Given the description of an element on the screen output the (x, y) to click on. 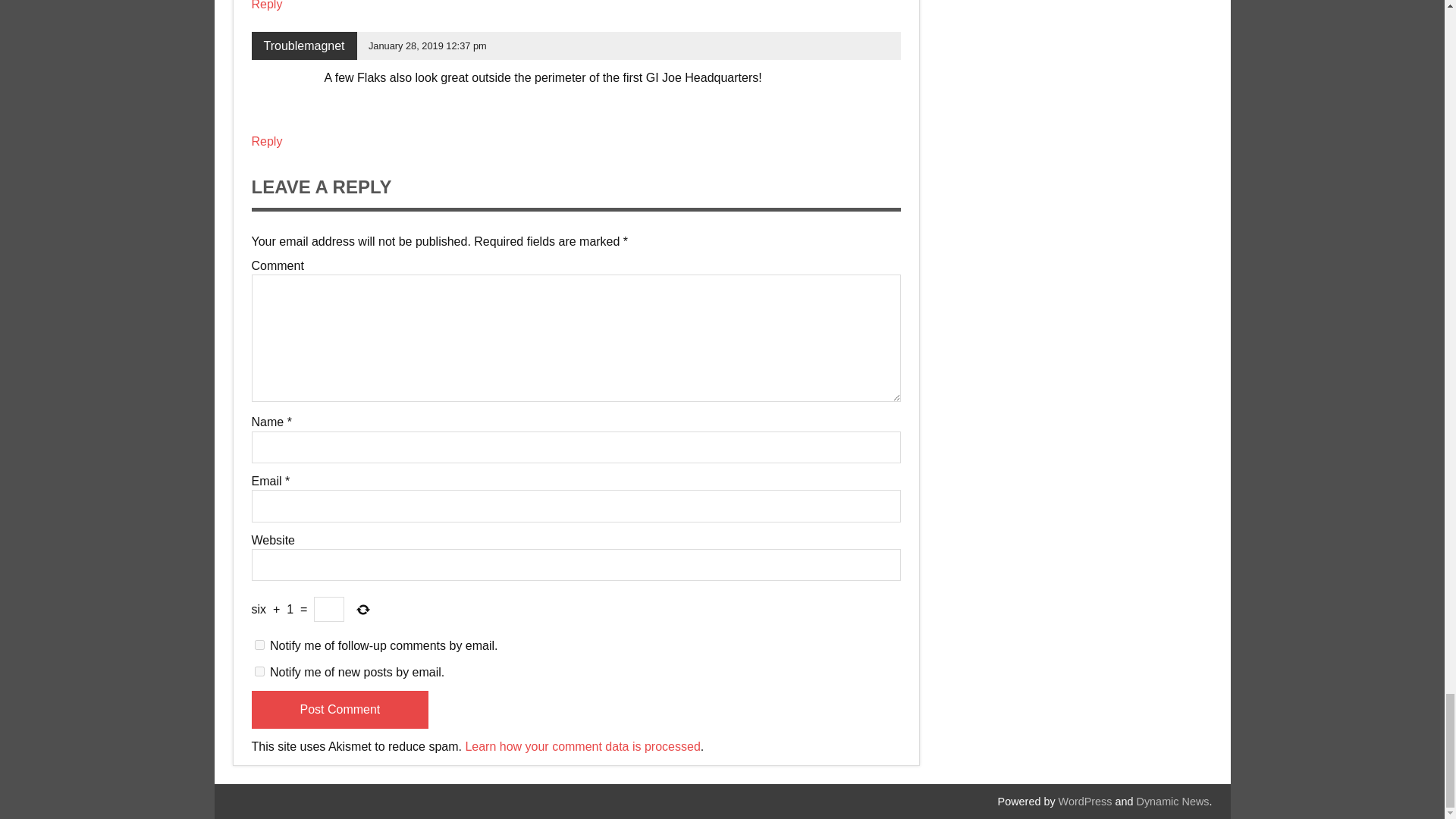
subscribe (259, 644)
Post Comment (340, 709)
Post Comment (340, 709)
Dynamic News WordPress Theme (1173, 801)
Reply (266, 5)
WordPress (1085, 801)
Reply (266, 141)
Learn how your comment data is processed (582, 746)
January 28, 2019 12:37 pm (427, 45)
subscribe (259, 671)
